Given the description of an element on the screen output the (x, y) to click on. 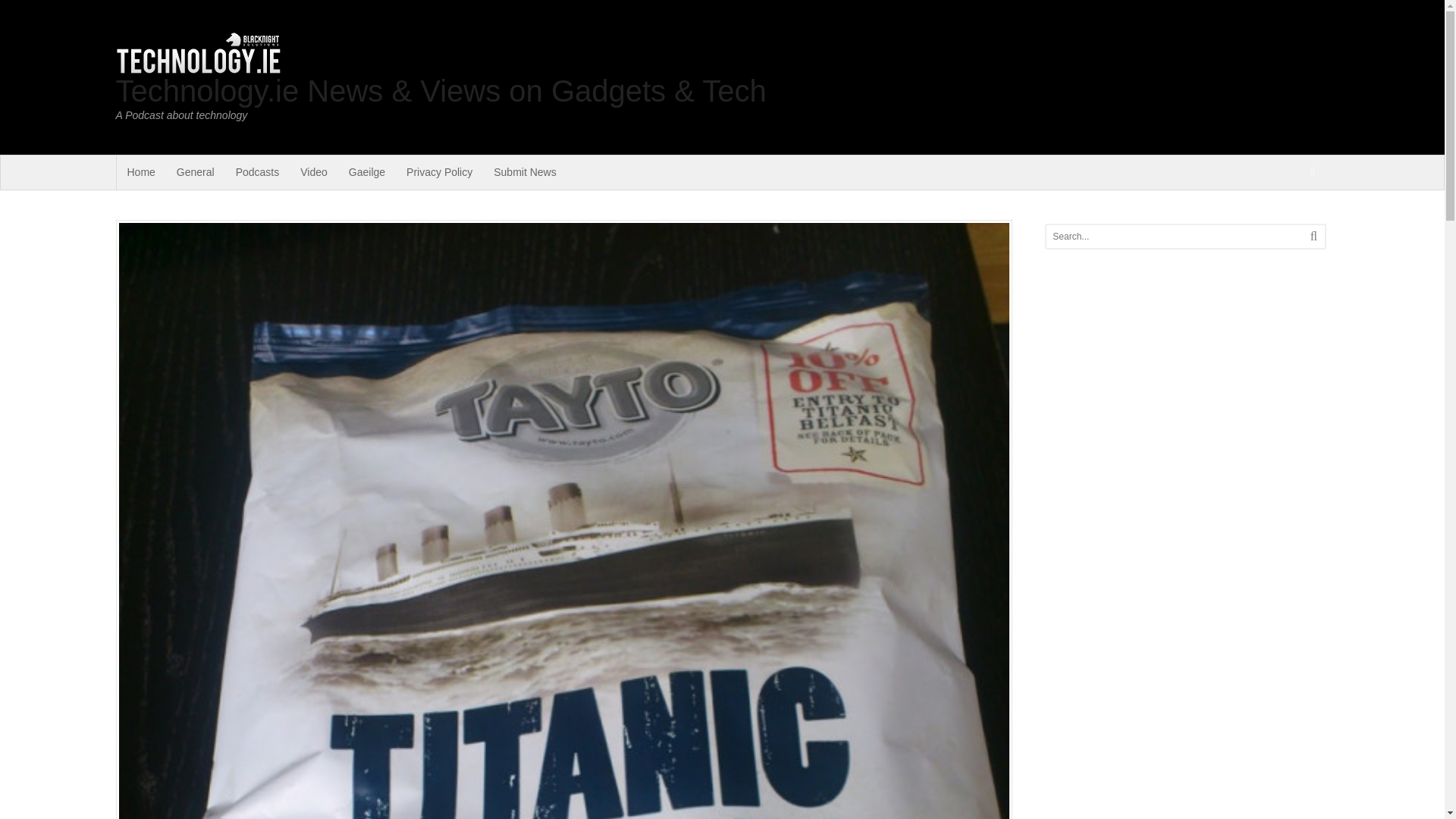
Podcasts (257, 172)
Video (313, 172)
Gaeilge (366, 172)
A Podcast about technology (197, 67)
Privacy Policy (439, 172)
Search... (1170, 236)
General (195, 172)
Submit News (524, 172)
Home (140, 172)
Technoloy.ie Home Page (140, 172)
